Given the description of an element on the screen output the (x, y) to click on. 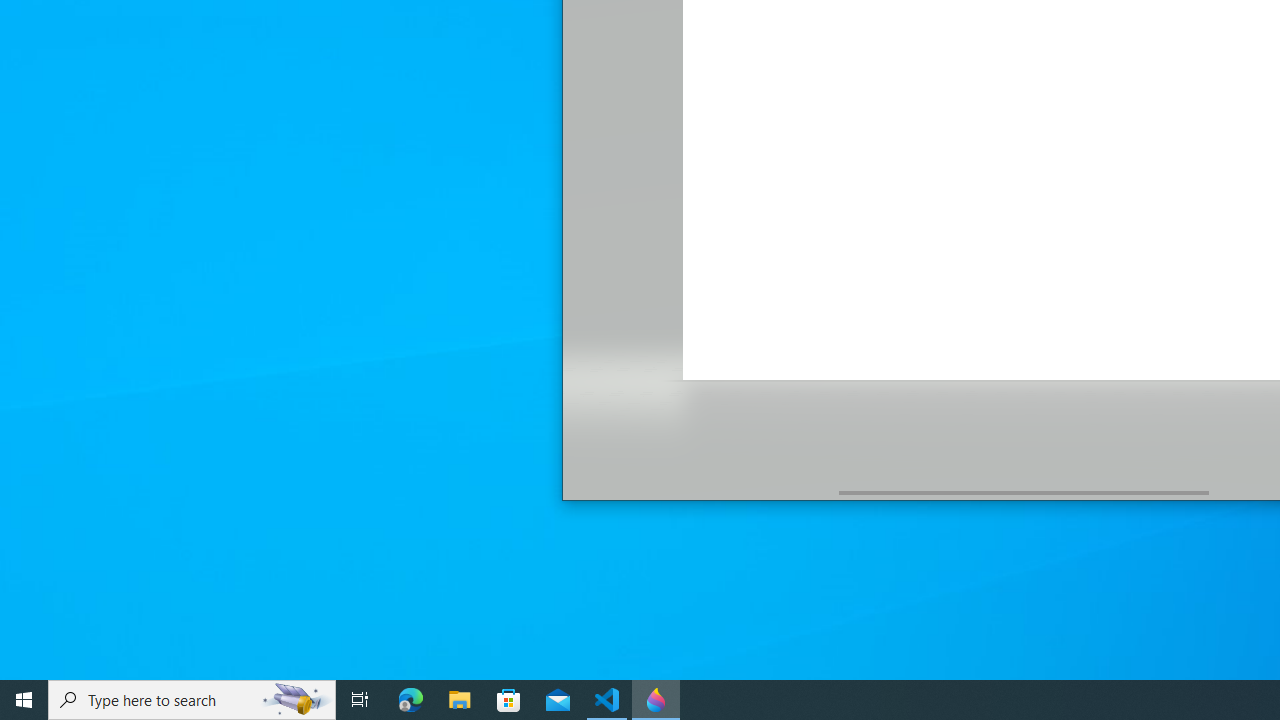
Horizontal Large Decrease (700, 492)
Paint 3D - 1 running window (656, 699)
